Given the description of an element on the screen output the (x, y) to click on. 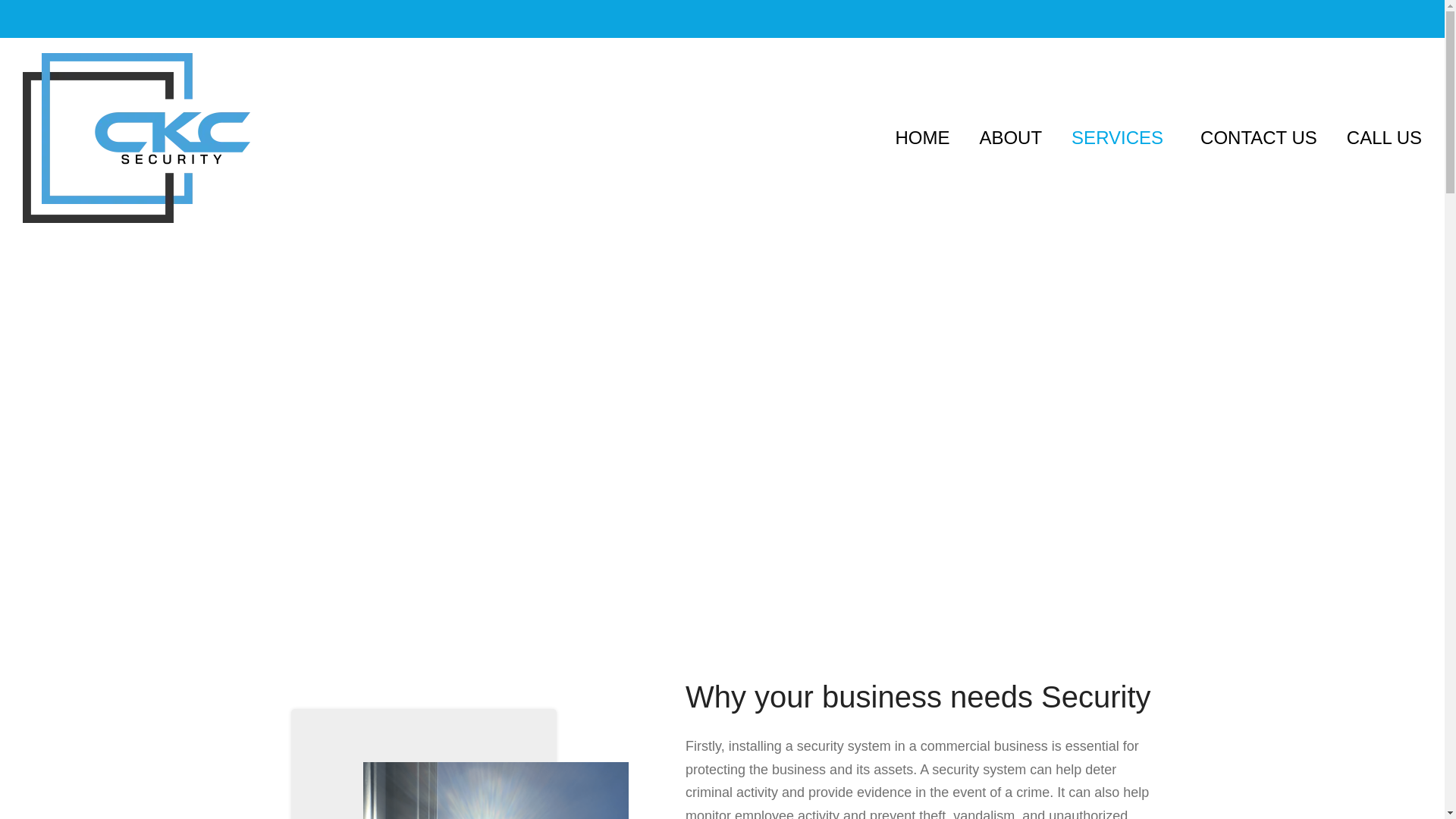
CONTACT US (1258, 137)
CALL US (1384, 137)
ABOUT (1010, 137)
SERVICES (1120, 137)
HOME (922, 137)
